Given the description of an element on the screen output the (x, y) to click on. 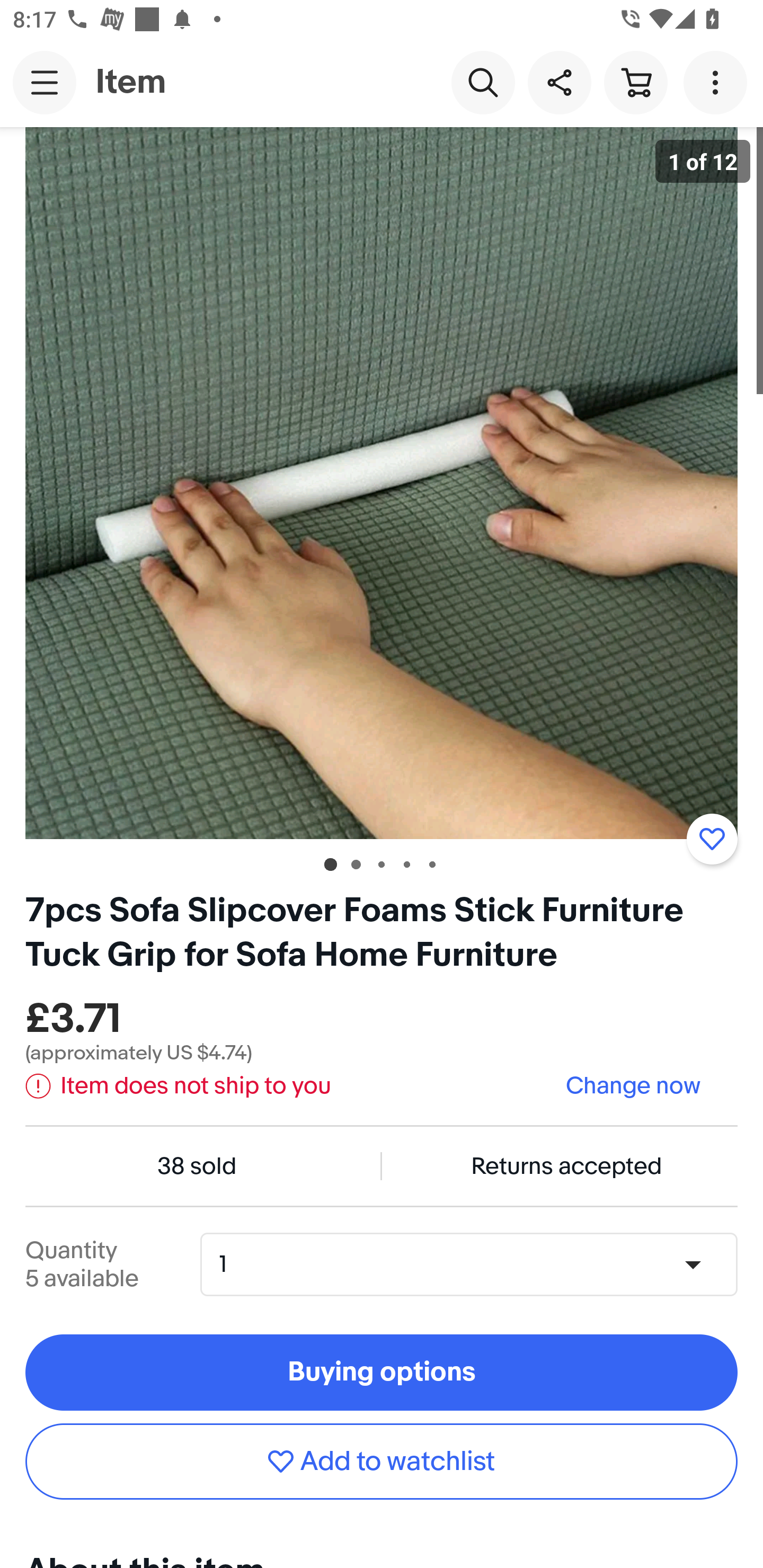
Main navigation, open (44, 82)
Search (482, 81)
Share this item (559, 81)
Cart button shopping cart (635, 81)
More options (718, 81)
Item image 1 of 12 (381, 482)
Add to watchlist (711, 838)
Quantity,1,5 available 1 (474, 1264)
Buying options (381, 1372)
Add to watchlist (381, 1461)
